Given the description of an element on the screen output the (x, y) to click on. 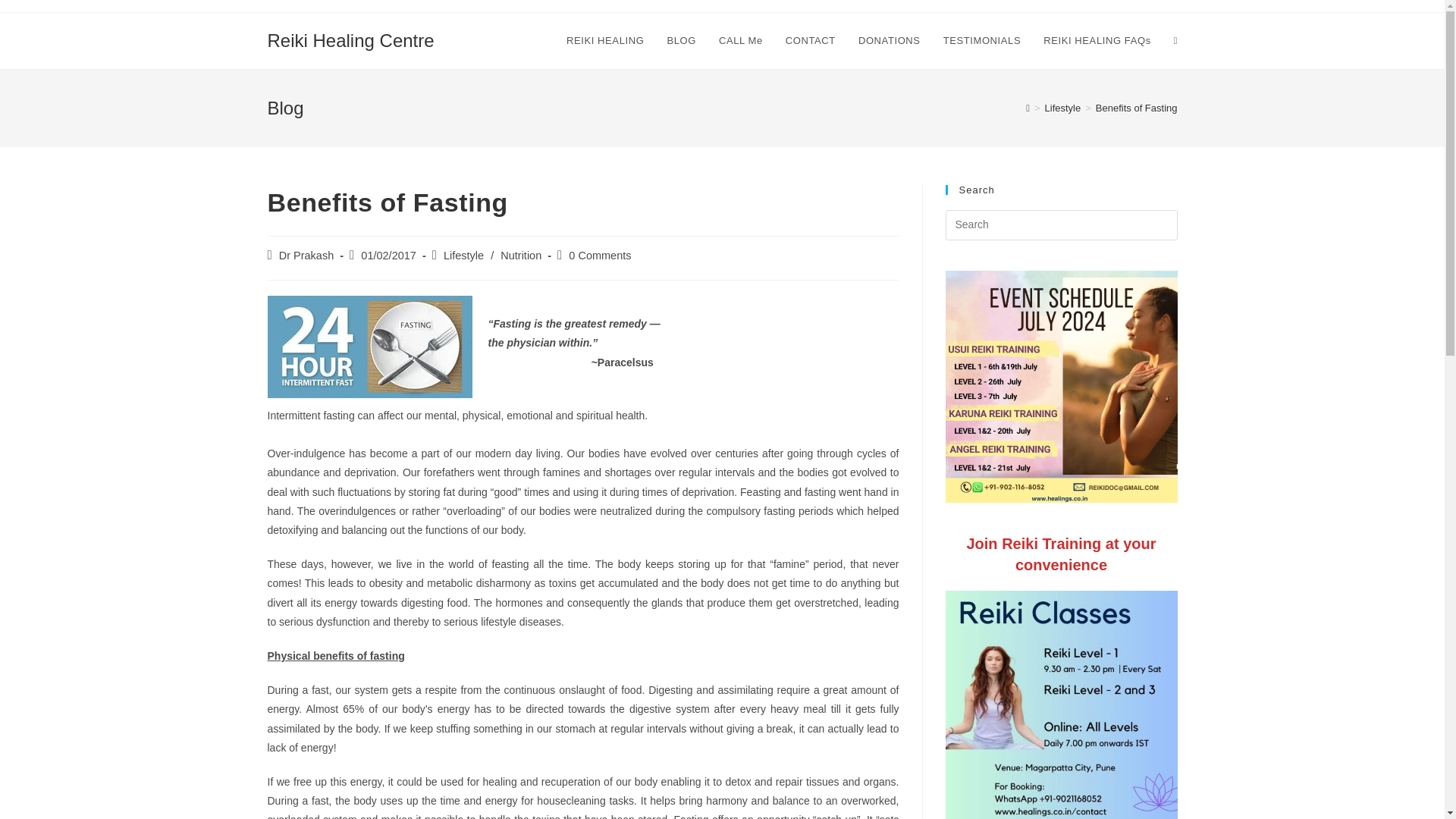
Reiki Healing Centre (349, 40)
Lifestyle (463, 255)
Nutrition (520, 255)
REIKI HEALING FAQs (1096, 40)
DONATIONS (889, 40)
CALL Me (740, 40)
Posts by Dr Prakash (306, 255)
CONTACT (810, 40)
Lifestyle (1063, 107)
0 Comments (599, 255)
REIKI HEALING (604, 40)
BLOG (681, 40)
Dr Prakash (306, 255)
TESTIMONIALS (981, 40)
Benefits of Fasting (1136, 107)
